Given the description of an element on the screen output the (x, y) to click on. 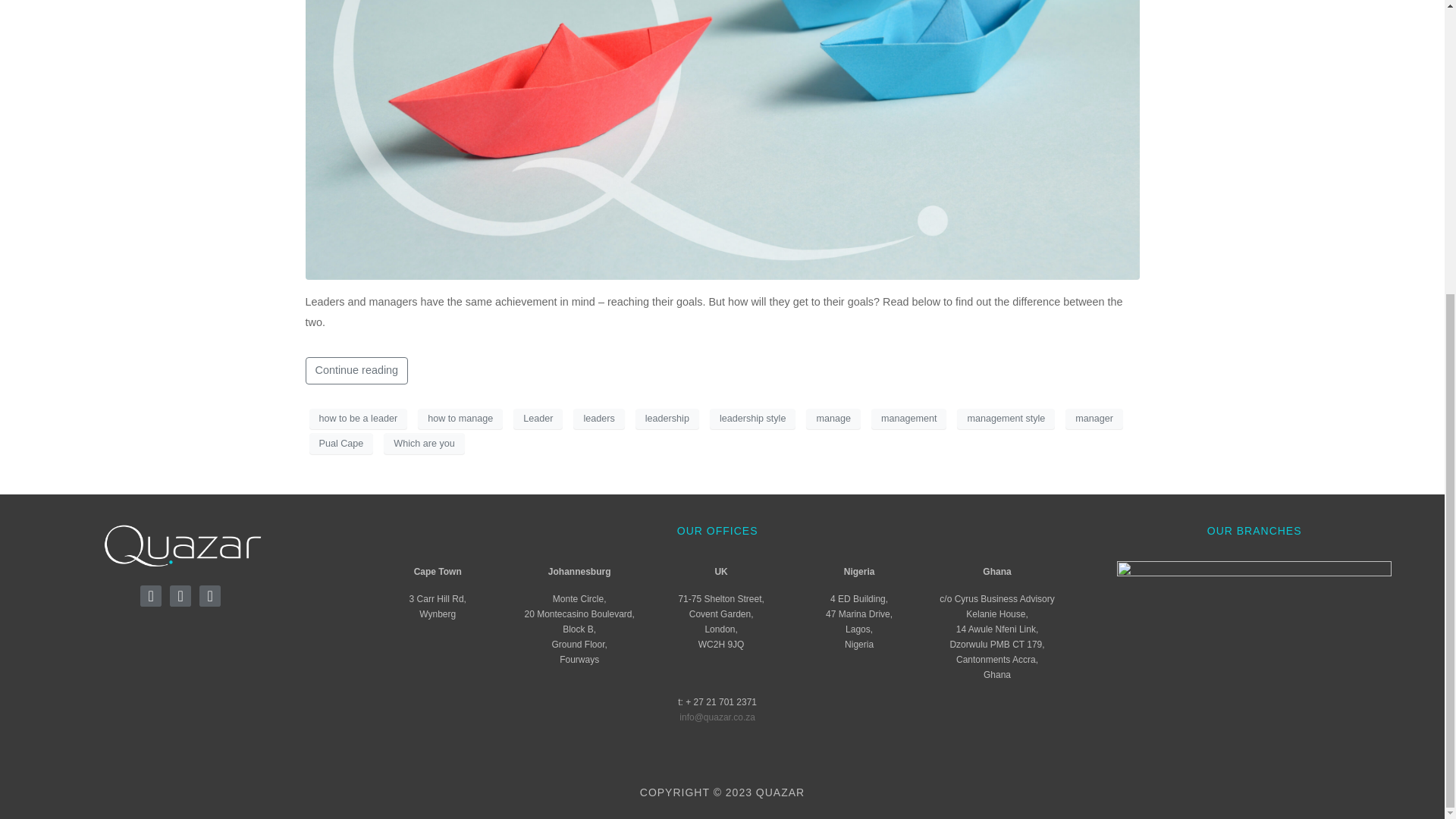
how to manage (459, 418)
manage (833, 418)
leadership style (753, 418)
leadership (666, 418)
Leader (537, 418)
leaders (598, 418)
Continue reading (355, 370)
how to be a leader (357, 418)
